Given the description of an element on the screen output the (x, y) to click on. 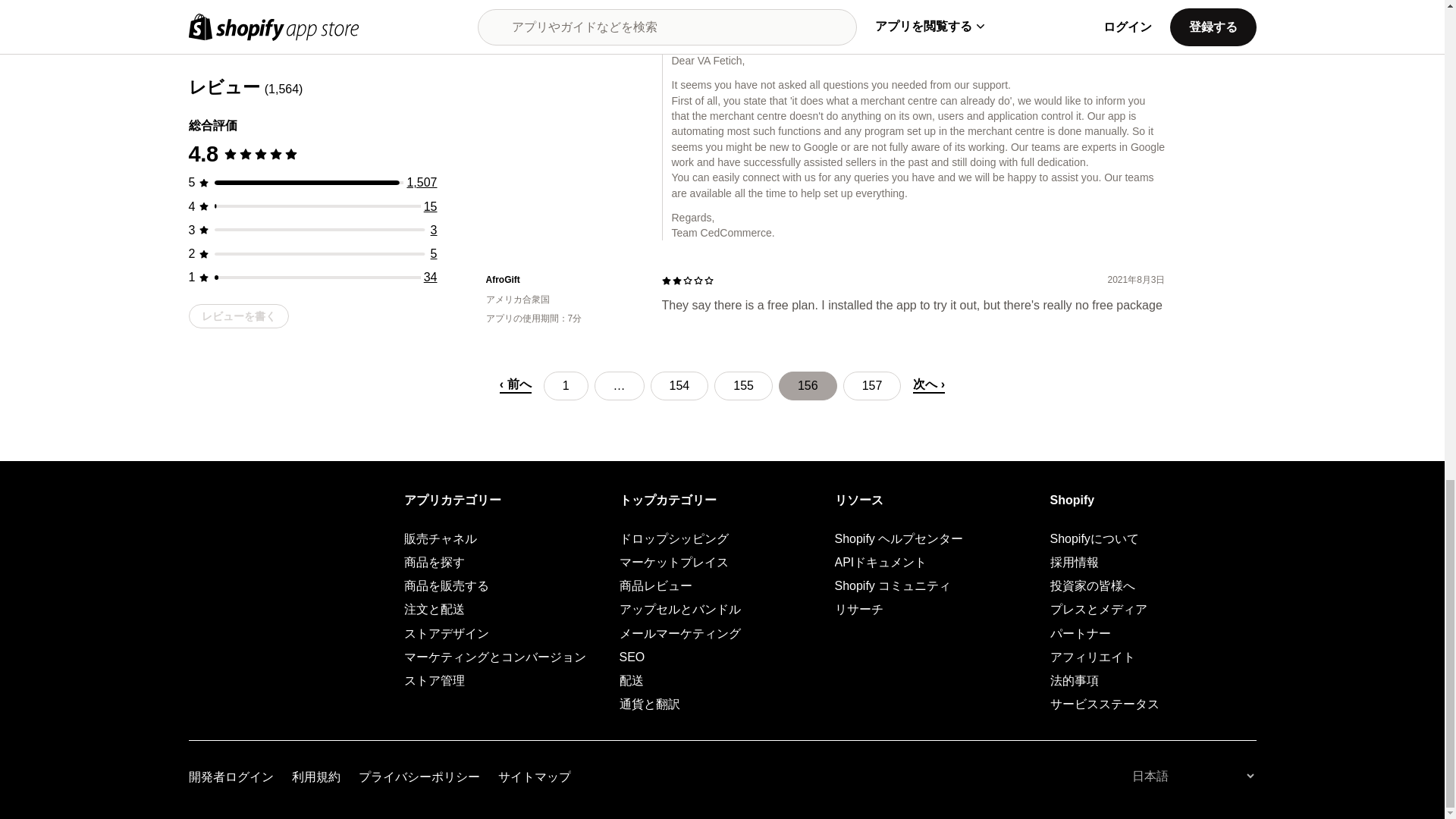
AfroGift (560, 279)
